Given the description of an element on the screen output the (x, y) to click on. 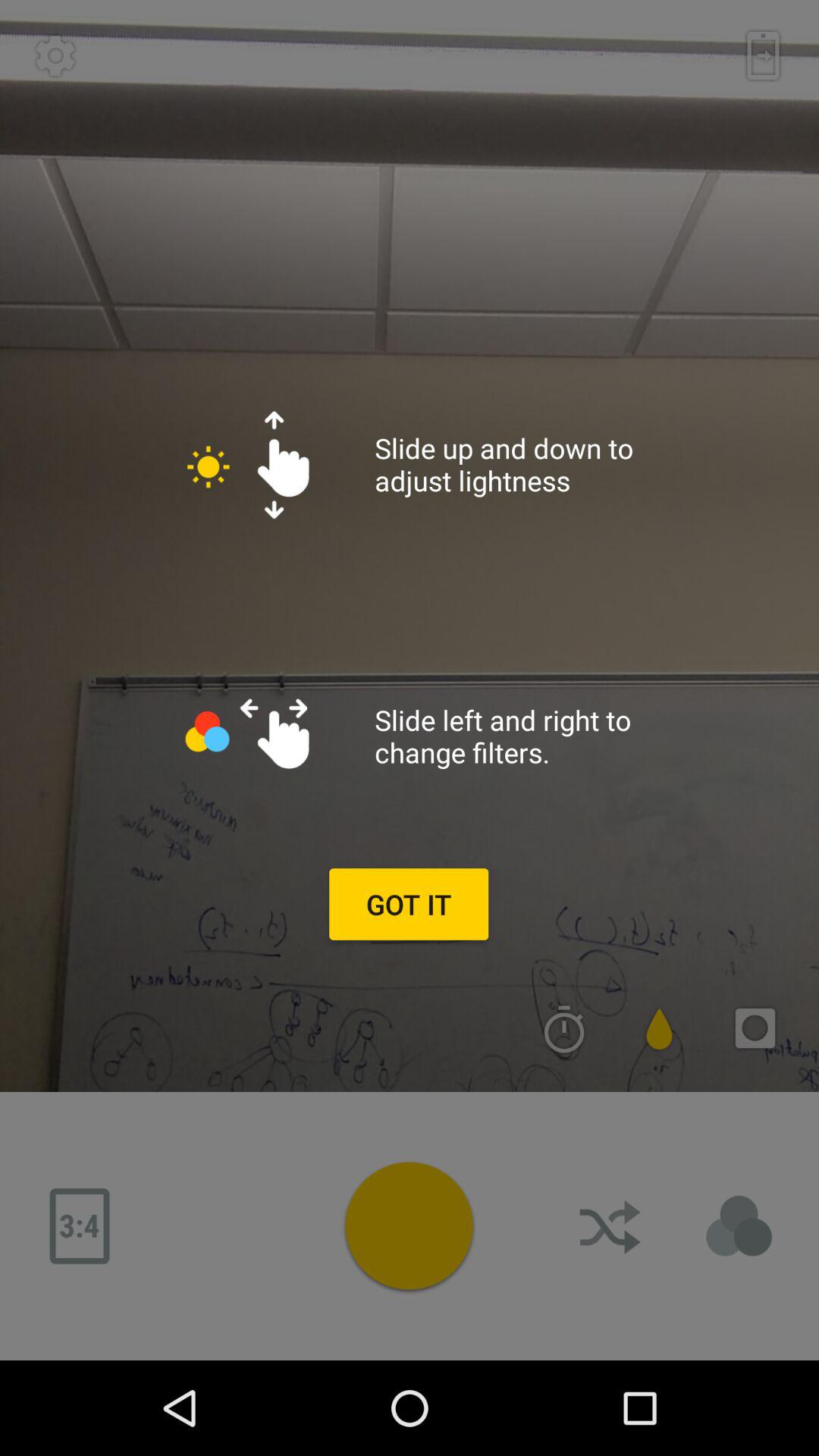
download (611, 1226)
